Given the description of an element on the screen output the (x, y) to click on. 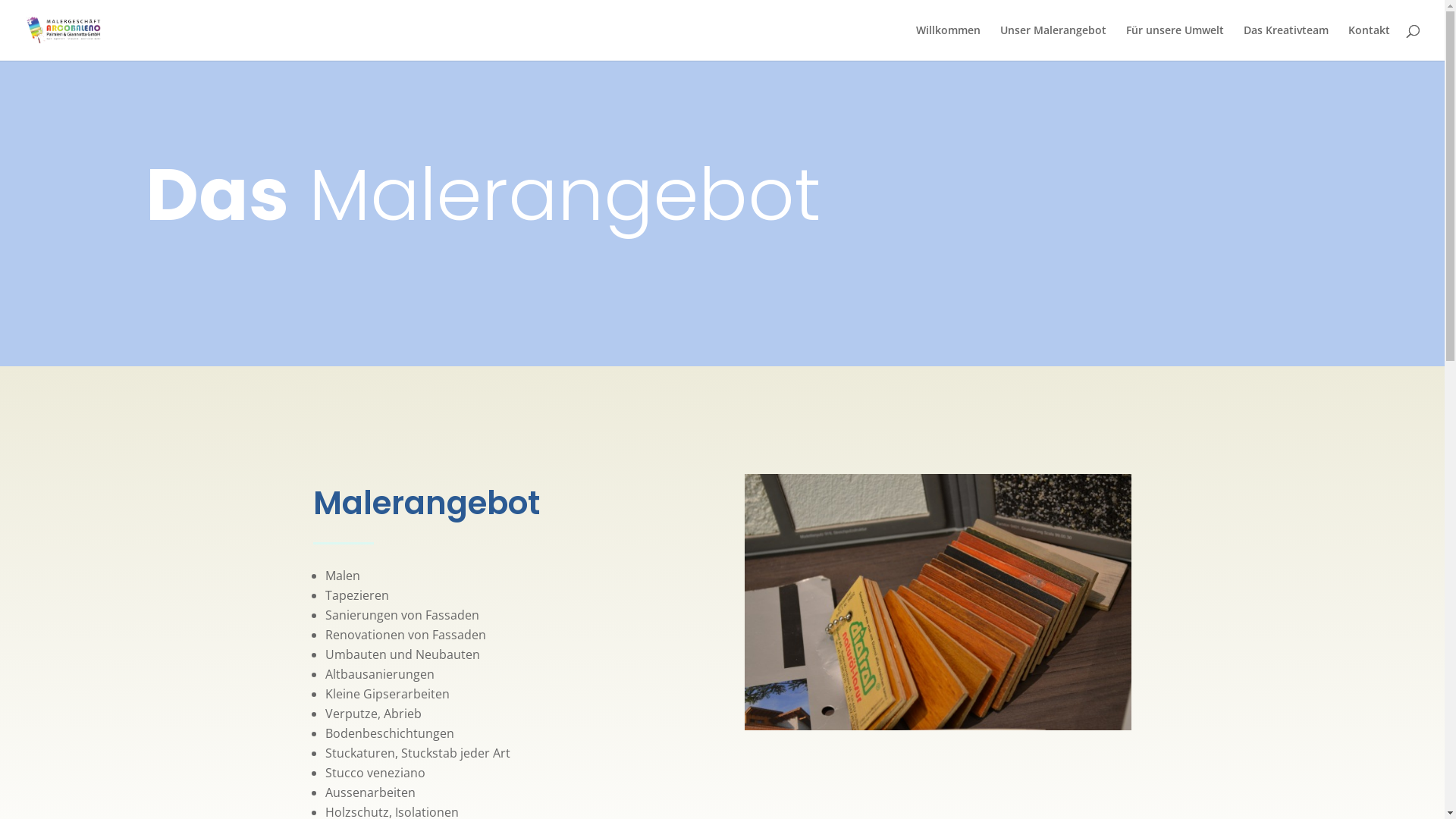
Kontakt Element type: text (1369, 42)
Das Kreativteam Element type: text (1285, 42)
Unser Malerangebot Element type: text (1053, 42)
Willkommen Element type: text (948, 42)
